Given the description of an element on the screen output the (x, y) to click on. 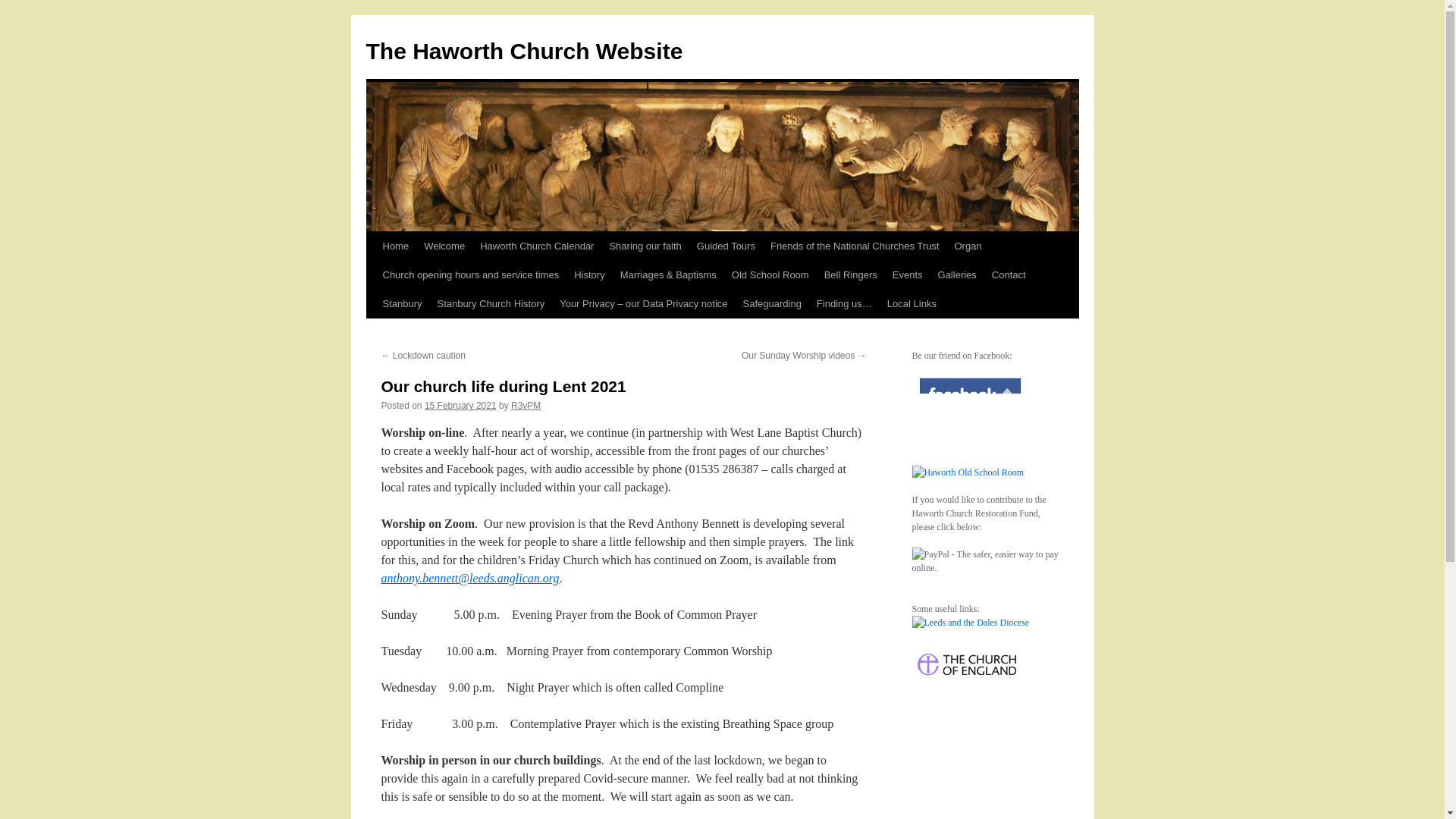
The Haworth Church Website (523, 50)
Guided Tours (725, 246)
Events (907, 275)
Welcome (443, 246)
R3vPM (525, 405)
Join us on our Facebook page (968, 404)
Safeguarding (772, 303)
Sharing our faith (644, 246)
Haworth Church Calendar (536, 246)
Church of England Website (968, 682)
